Given the description of an element on the screen output the (x, y) to click on. 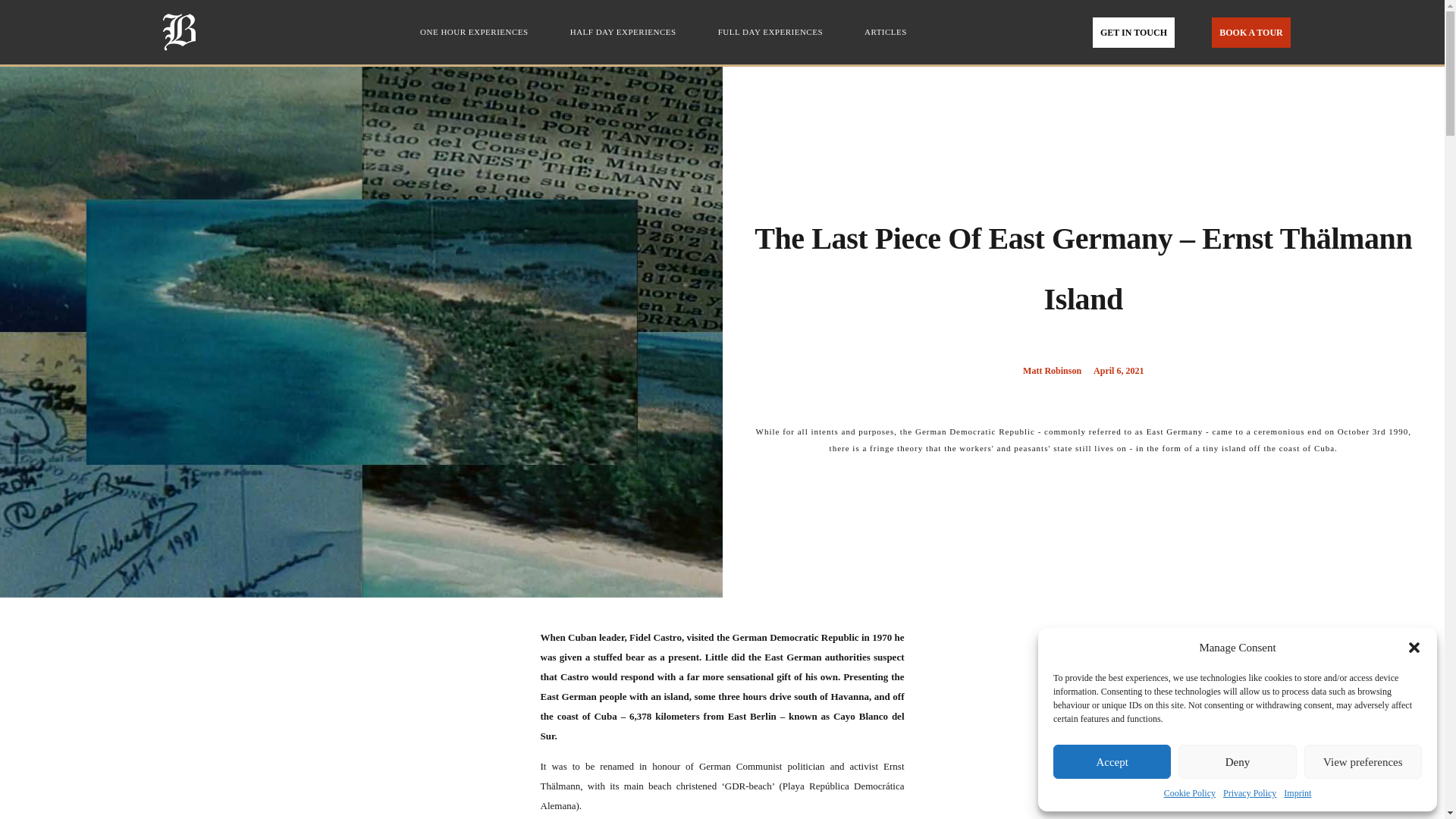
HALF DAY EXPERIENCES (626, 31)
Accept (1111, 761)
Privacy Policy (1249, 793)
View preferences (1363, 761)
ARTICLES (885, 31)
FULL DAY EXPERIENCES (774, 31)
Imprint (1297, 793)
Deny (1236, 761)
ONE HOUR EXPERIENCES (478, 27)
Cookie Policy (1189, 793)
